Given the description of an element on the screen output the (x, y) to click on. 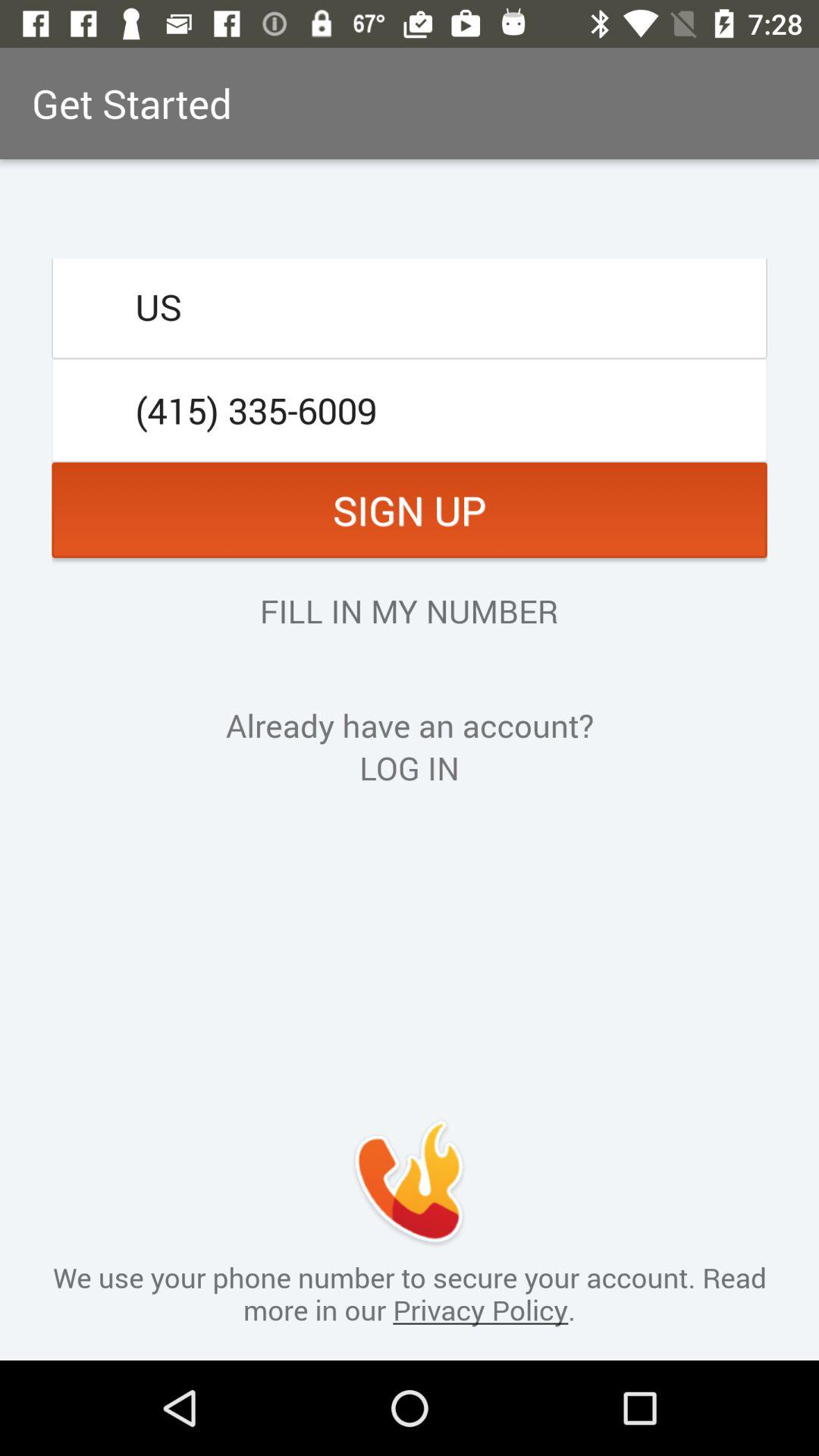
select the icon above already have an icon (408, 610)
